Given the description of an element on the screen output the (x, y) to click on. 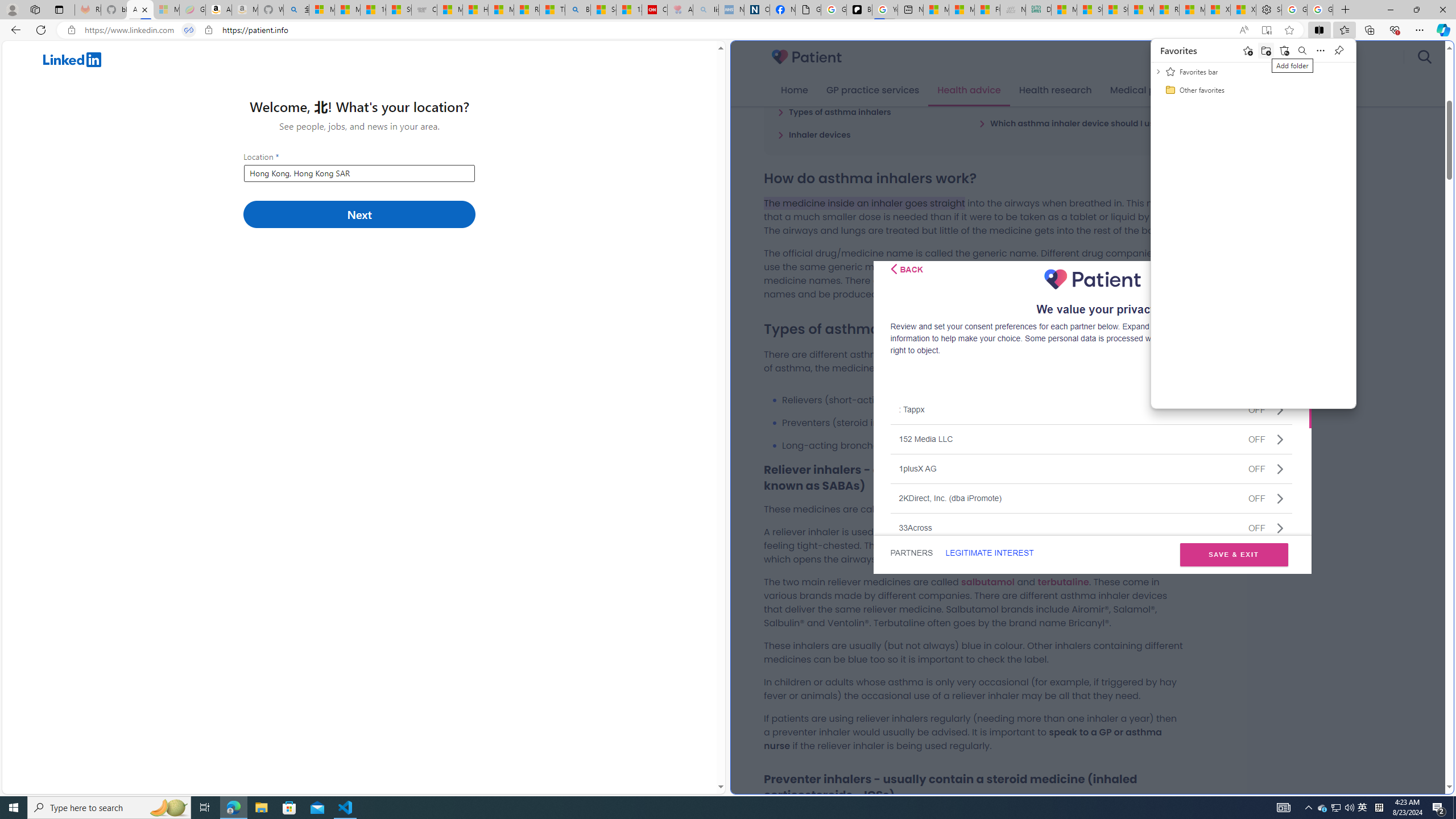
Health research (1054, 90)
GP practice services (872, 90)
Running applications (700, 807)
Patient 3.0 (807, 56)
33AcrossOFF (1090, 527)
Search favorites (1302, 49)
PARTNERS (911, 552)
